Given the description of an element on the screen output the (x, y) to click on. 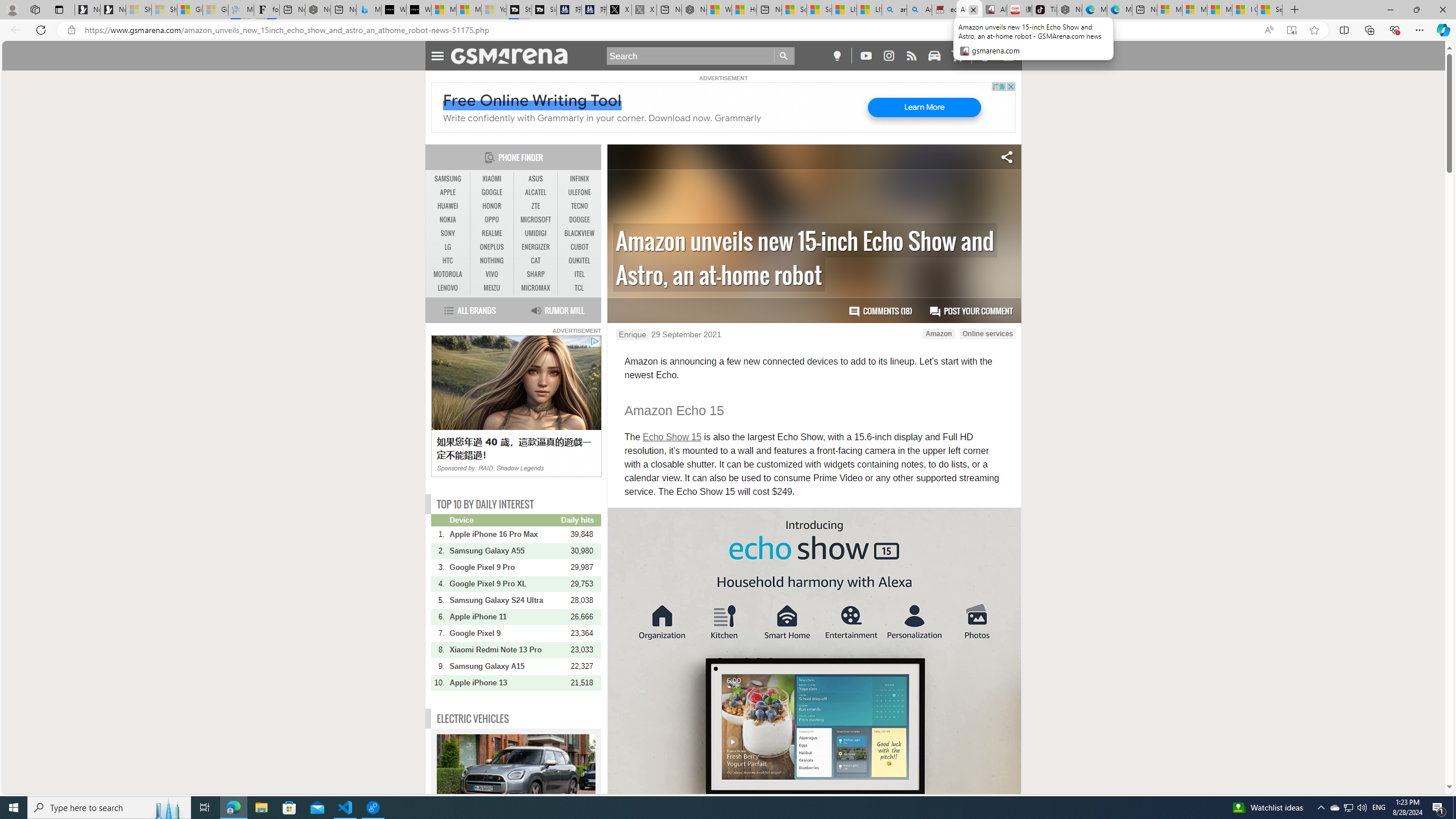
Online services (987, 333)
Toggle Navigation (437, 53)
Enrique (632, 333)
Apple iPhone 13 (504, 682)
TCL (578, 287)
BLACKVIEW (579, 233)
REALME (491, 233)
Google Pixel 9 Pro XL (504, 583)
SONY (448, 233)
